Given the description of an element on the screen output the (x, y) to click on. 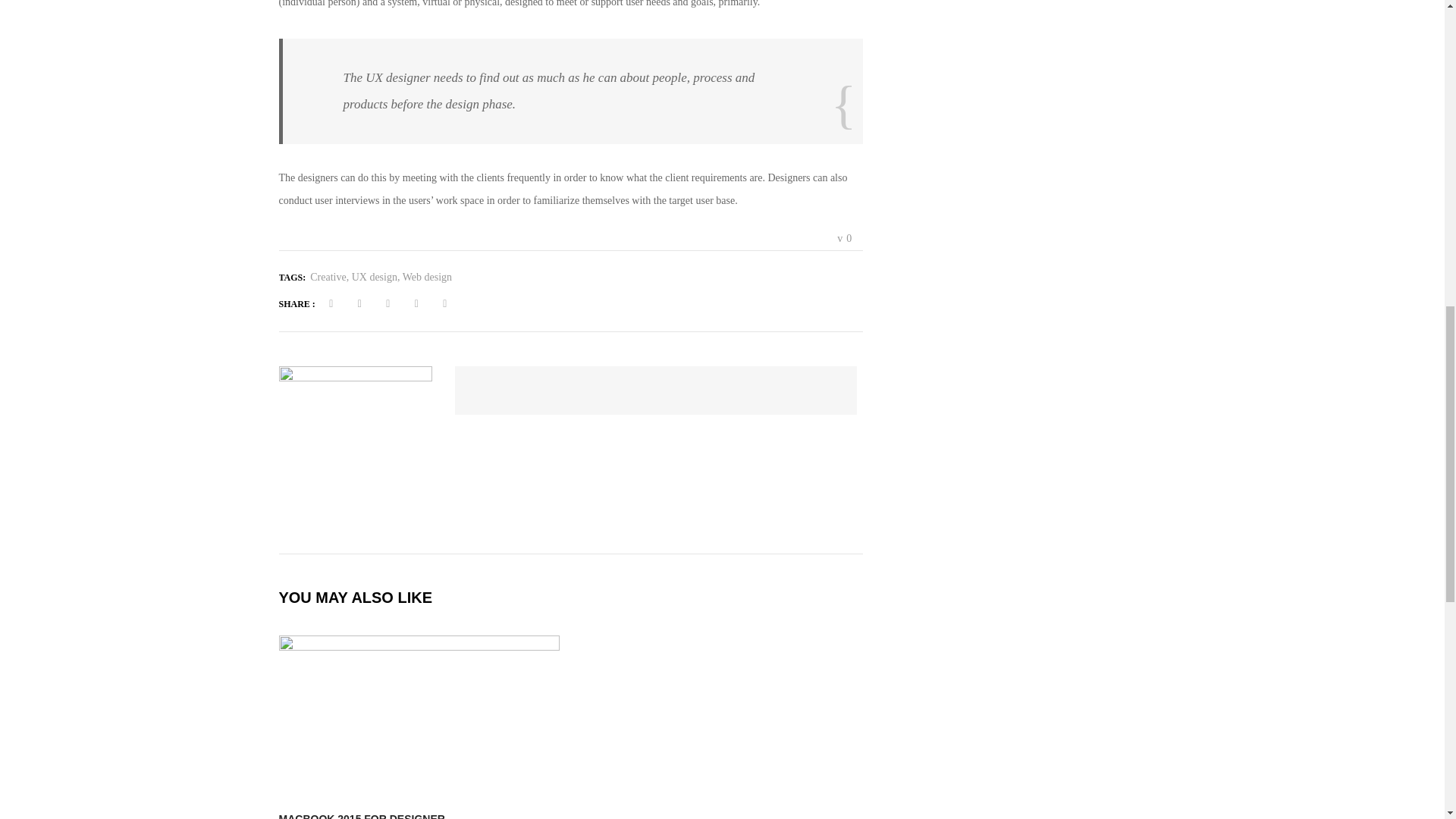
0 (844, 238)
Web design (427, 276)
Creative (330, 276)
MACBOOK 2015 FOR DESIGNER (362, 816)
Tumblr (444, 303)
UX design (377, 276)
Web design (427, 276)
Macbook 2015 For Designer (362, 816)
UX design (377, 276)
Creative (330, 276)
LinkedIn (416, 303)
